Given the description of an element on the screen output the (x, y) to click on. 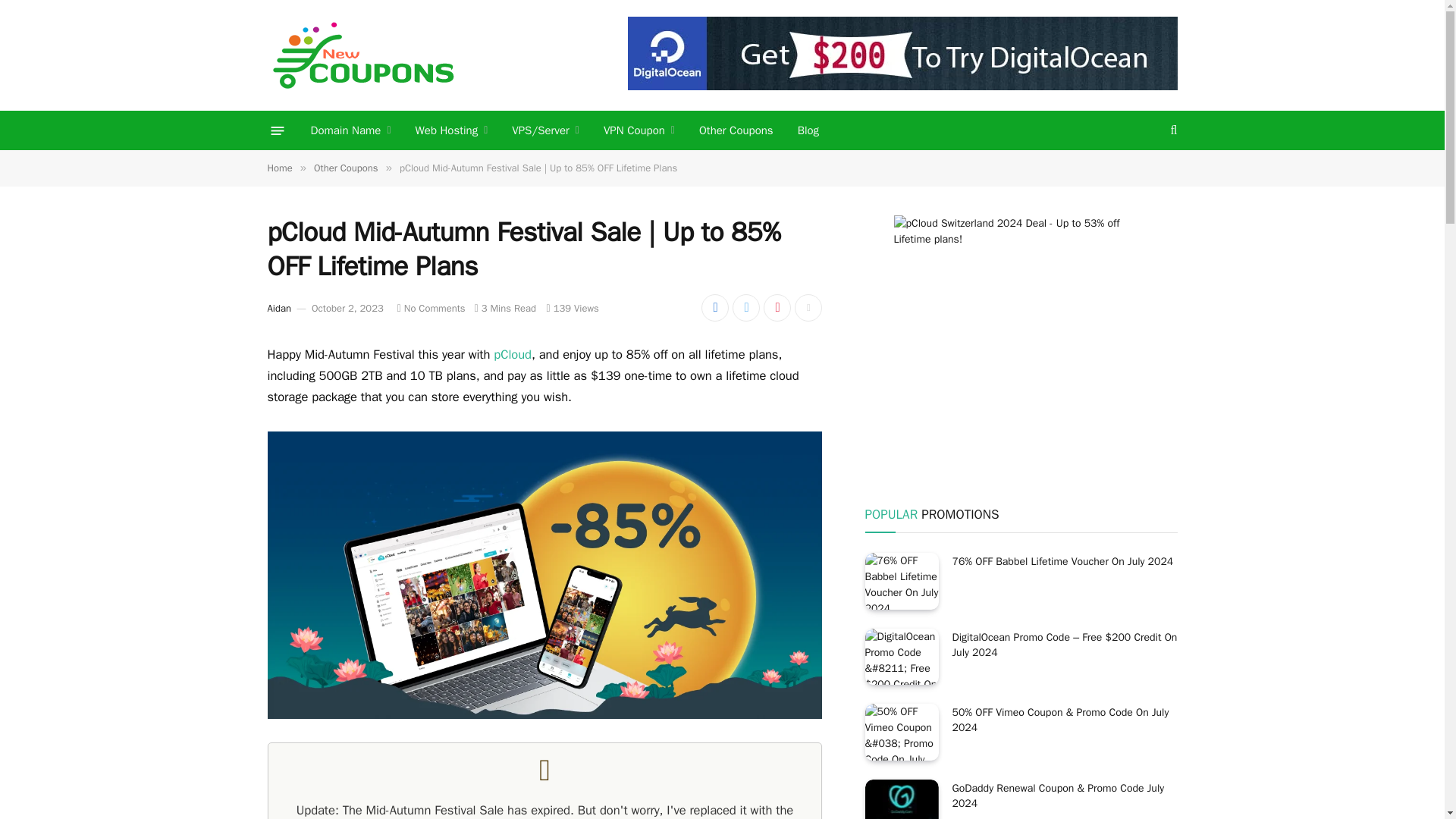
Web Hosting (451, 129)
Share on Pinterest (776, 307)
Show More Social Sharing (808, 307)
New Coupons (361, 54)
Domain Name (350, 129)
Share on Facebook (715, 307)
Posts by Aidan (277, 308)
